Given the description of an element on the screen output the (x, y) to click on. 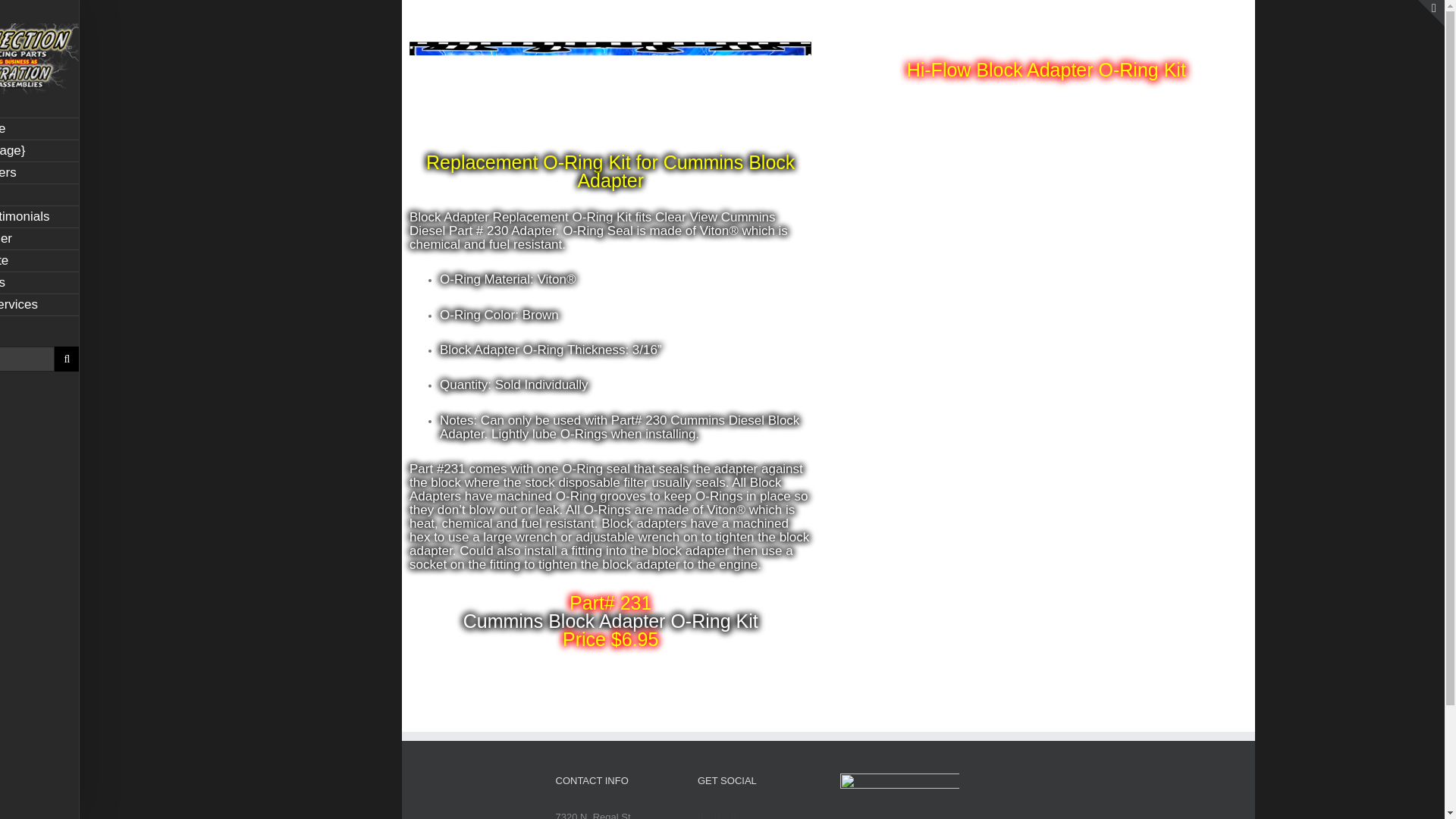
Contact Us (40, 282)
Find A Dealer (40, 239)
Block Adapters (40, 173)
Products and Services (40, 305)
Get A Quote (40, 260)
HomePage (40, 128)
